Given the description of an element on the screen output the (x, y) to click on. 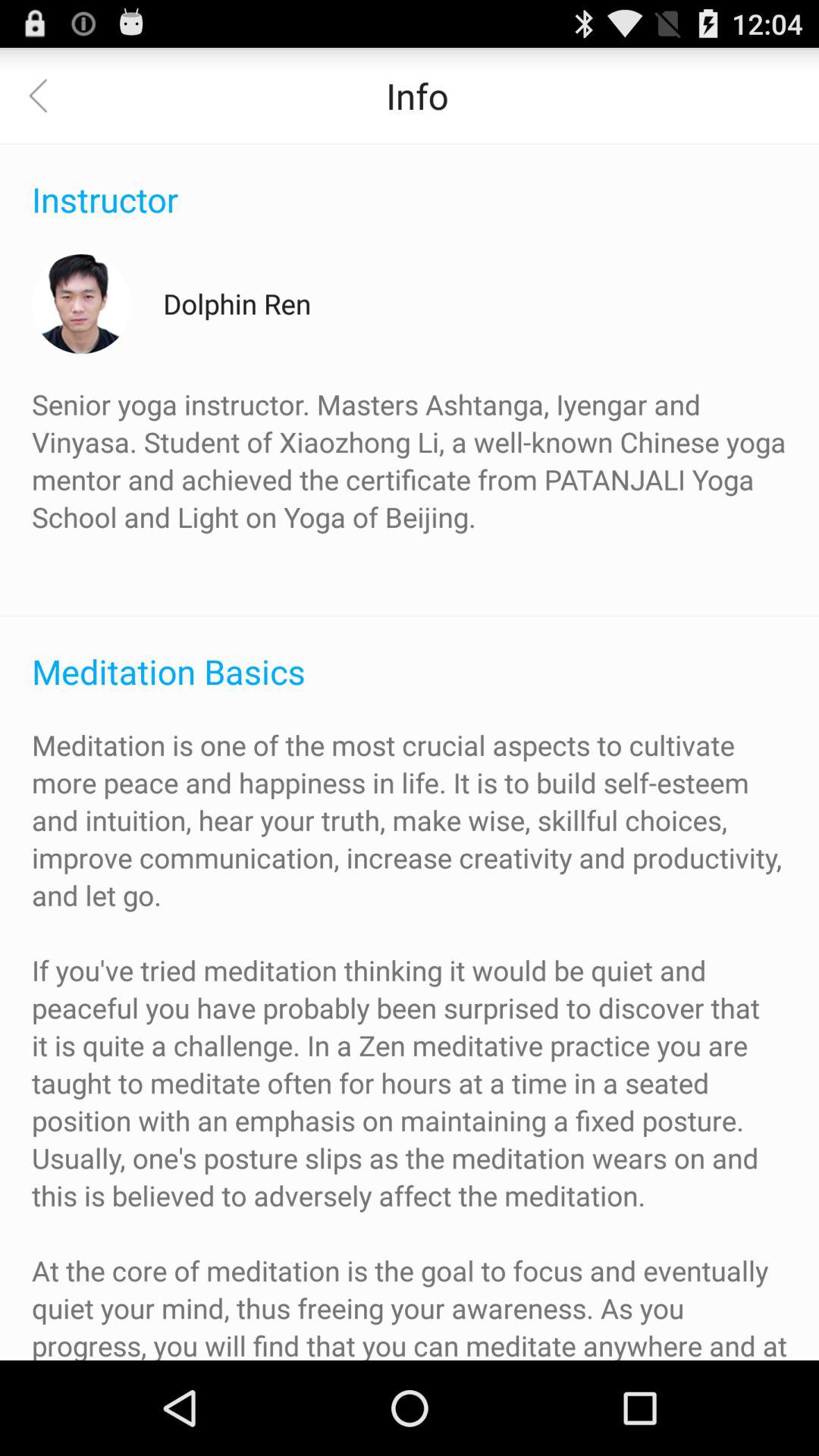
tap the icon next to info item (47, 95)
